Given the description of an element on the screen output the (x, y) to click on. 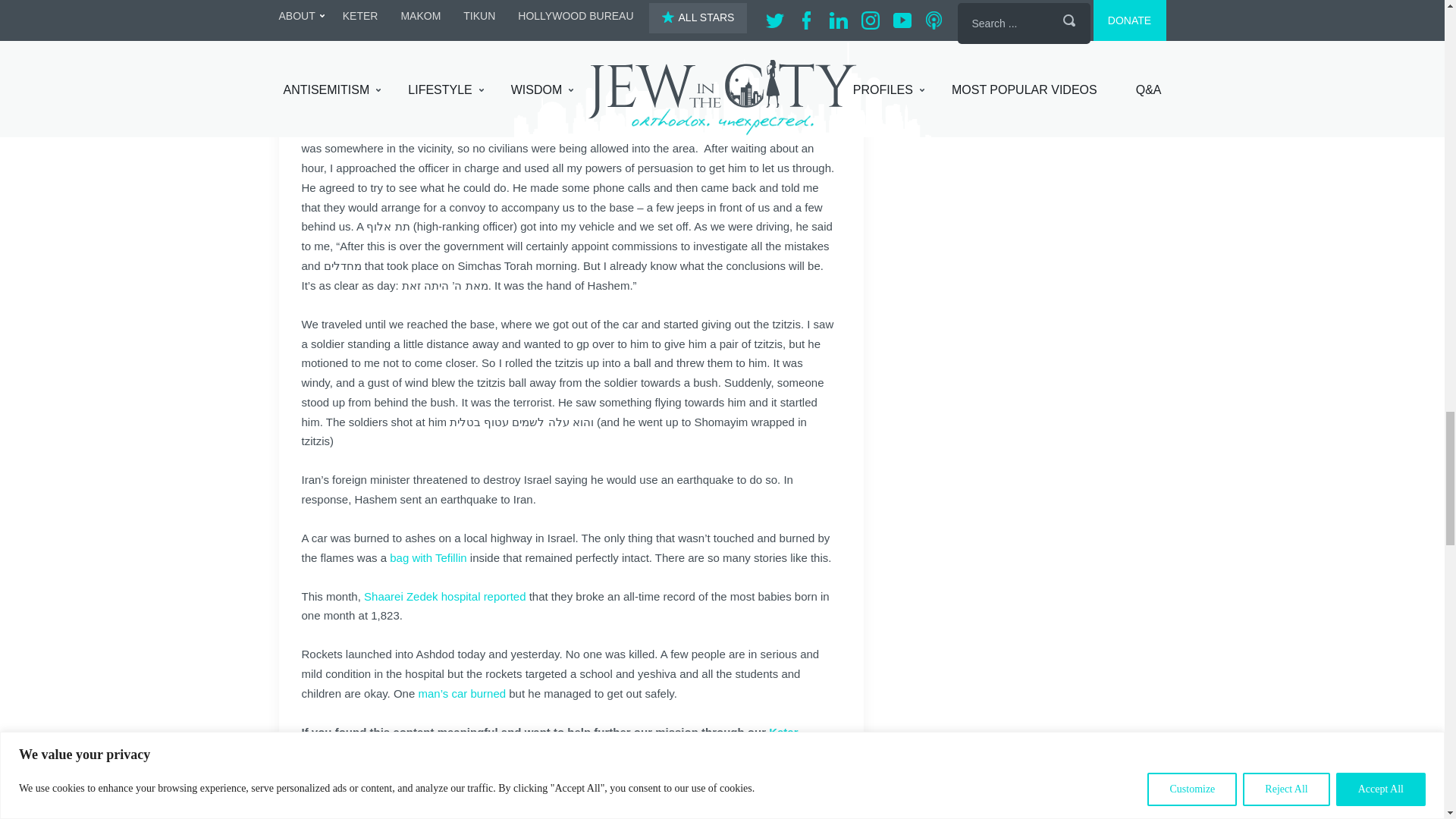
Instagram (454, 795)
Twitter (367, 795)
Whatsapp (483, 795)
Reddit (396, 795)
Linkedin (425, 795)
Facebook (339, 795)
